Given the description of an element on the screen output the (x, y) to click on. 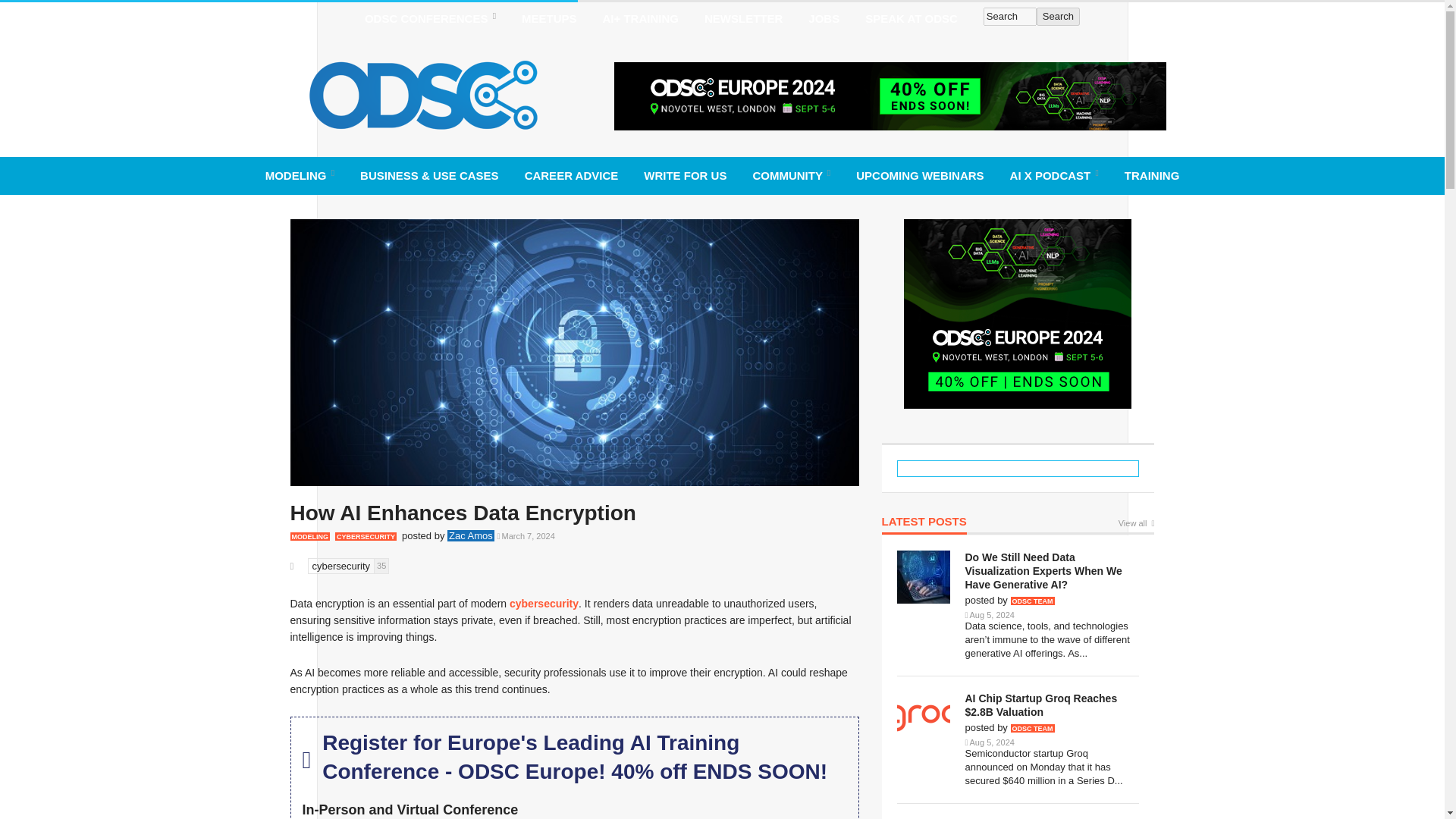
MODELING (299, 175)
UPCOMING WEBINARS (919, 175)
Search (1010, 16)
Newsletter (742, 18)
Jobs (822, 18)
Search (1058, 16)
SPEAK AT ODSC (911, 18)
NEWSLETTER (742, 18)
WRITE FOR US (684, 175)
Search (1058, 16)
ODSC Conferences (430, 18)
MEETUPS (548, 18)
MEETUPS (548, 18)
COMMUNITY (791, 175)
JOBS (822, 18)
